Given the description of an element on the screen output the (x, y) to click on. 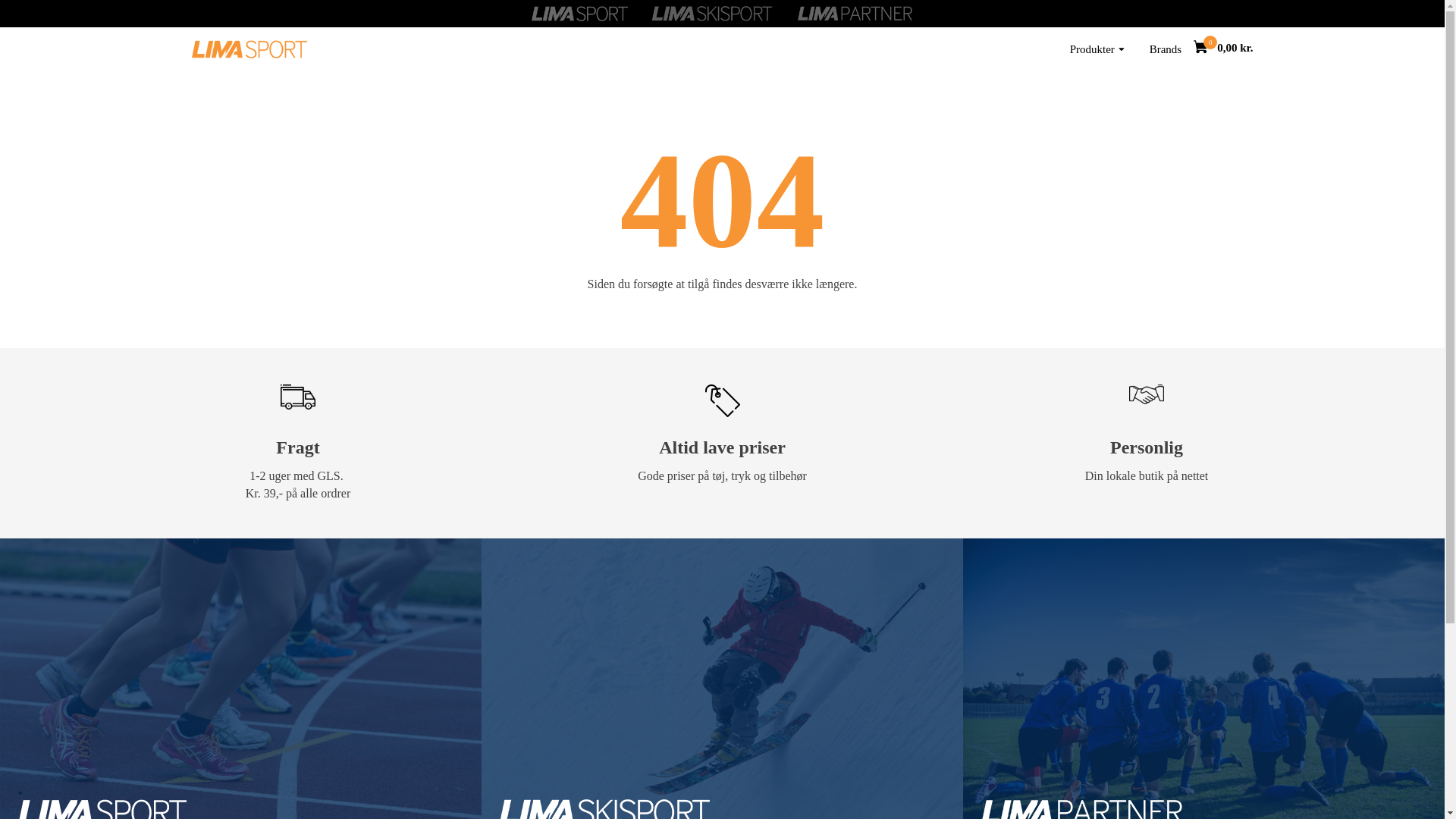
Produkter (1097, 49)
Brands (1165, 49)
Go to Cart (1205, 48)
